Given the description of an element on the screen output the (x, y) to click on. 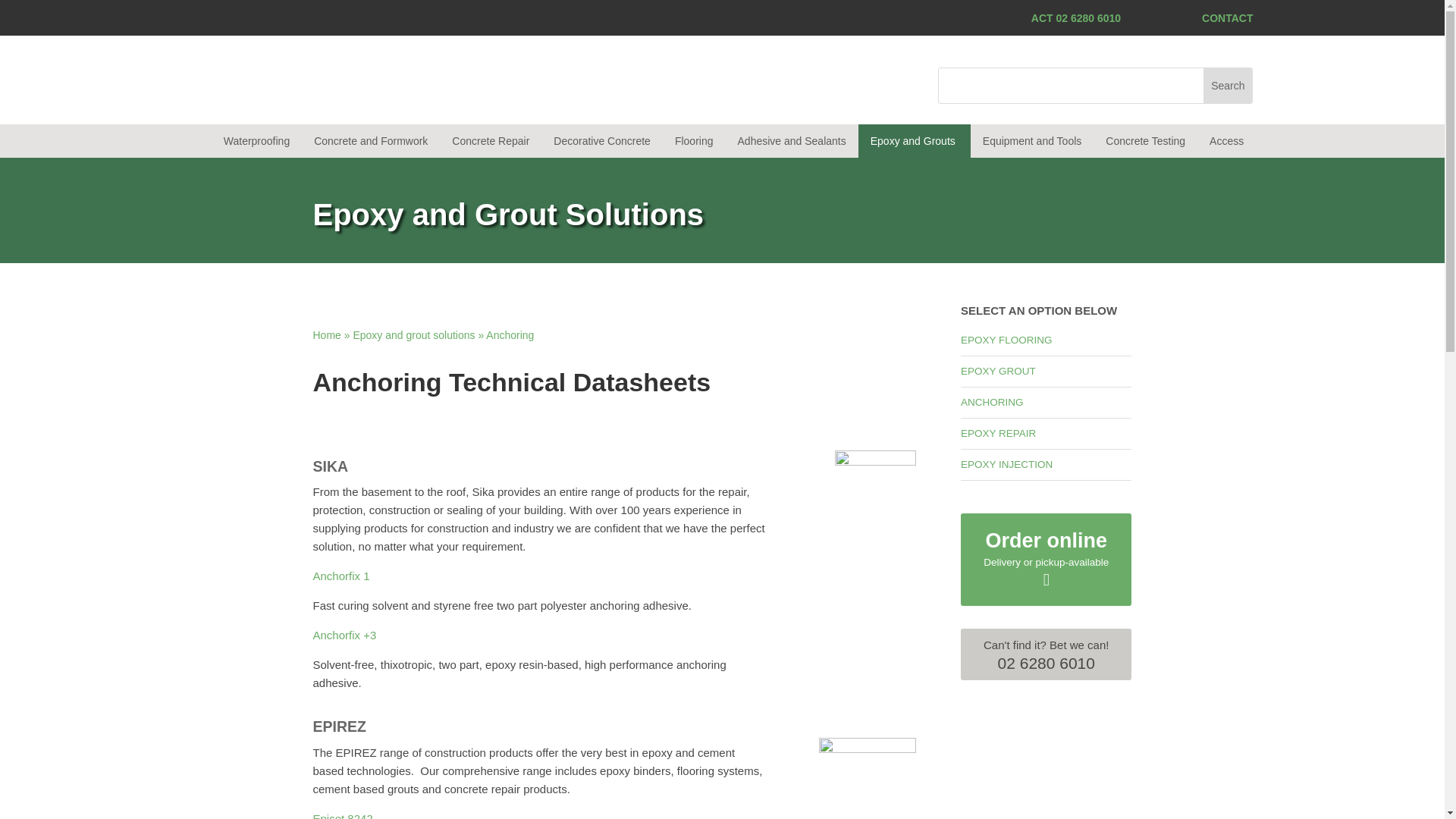
Epoxy and Grouts (912, 141)
EPOXY GROUT (997, 370)
Concrete and Formwork (370, 141)
Epoxy and grout solutions (413, 335)
EPOXY REPAIR (997, 432)
Concrete Testing (1145, 141)
Search (1228, 85)
Concrete Repair (490, 141)
Order online (1045, 540)
Access (1226, 141)
